Given the description of an element on the screen output the (x, y) to click on. 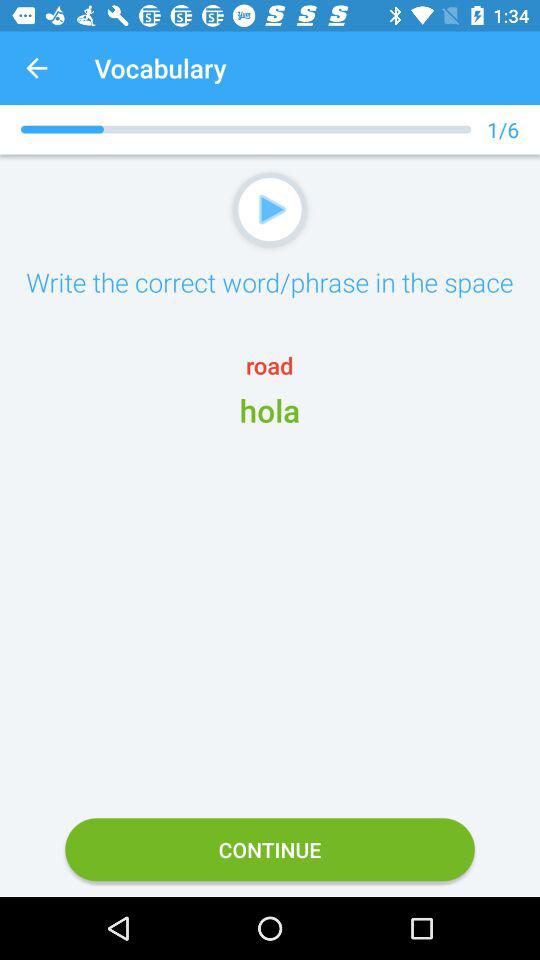
launch item below hola (269, 849)
